Given the description of an element on the screen output the (x, y) to click on. 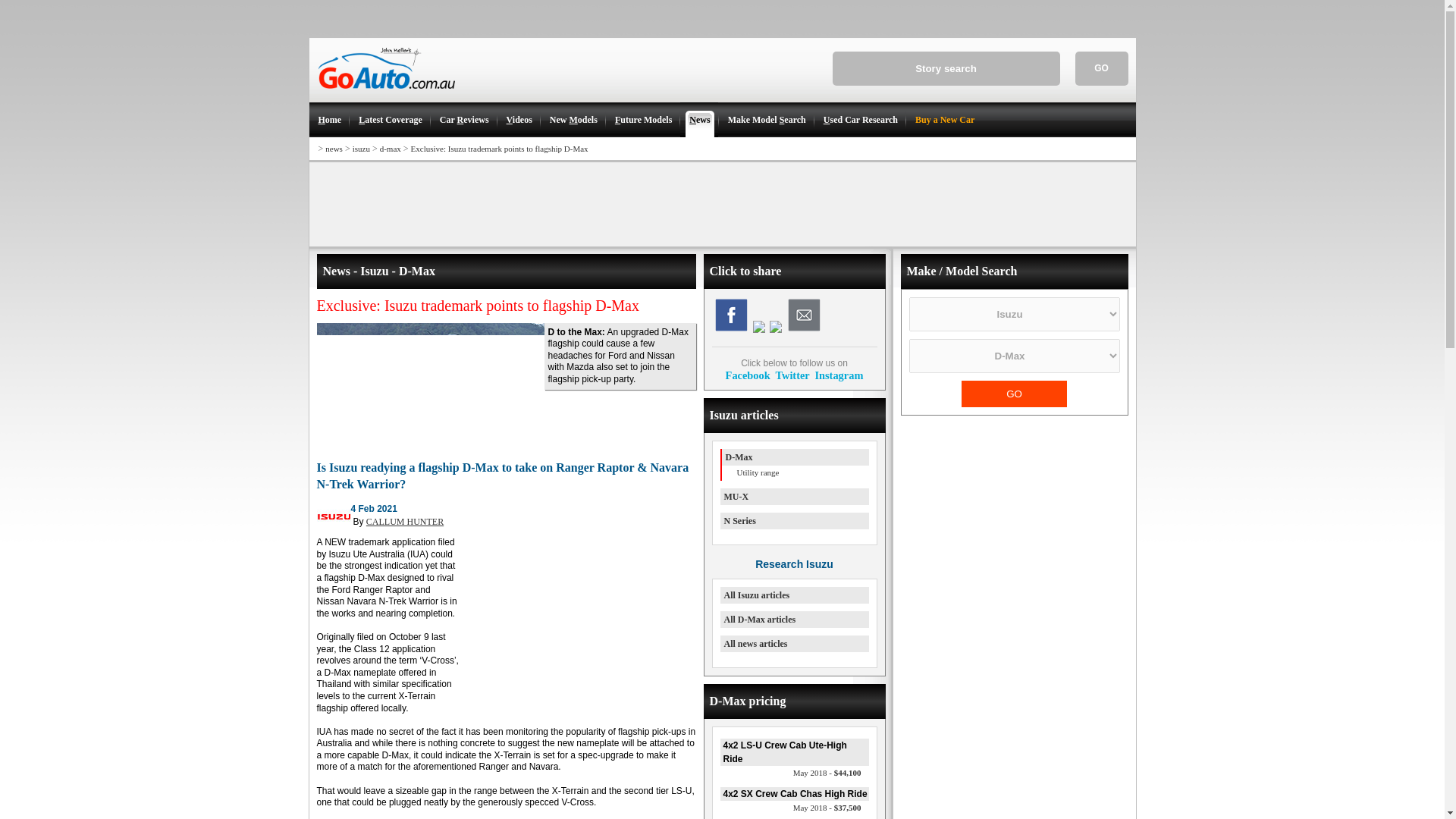
Videos (518, 119)
Exclusive: Isuzu trademark points to flagship D-Max (499, 148)
CALLUM HUNTER (405, 521)
d-max (390, 148)
Make Model Search (766, 119)
Buy a New Car (943, 119)
GO (1013, 393)
